Given the description of an element on the screen output the (x, y) to click on. 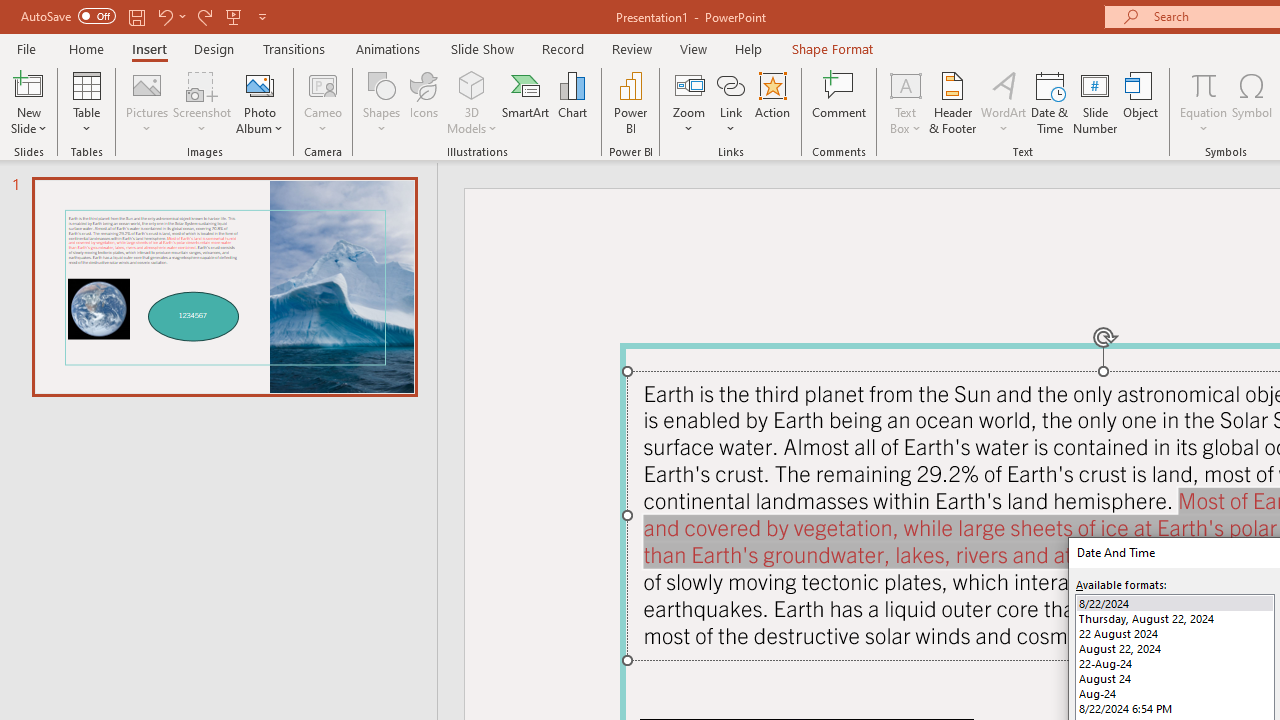
Object... (1141, 102)
